Given the description of an element on the screen output the (x, y) to click on. 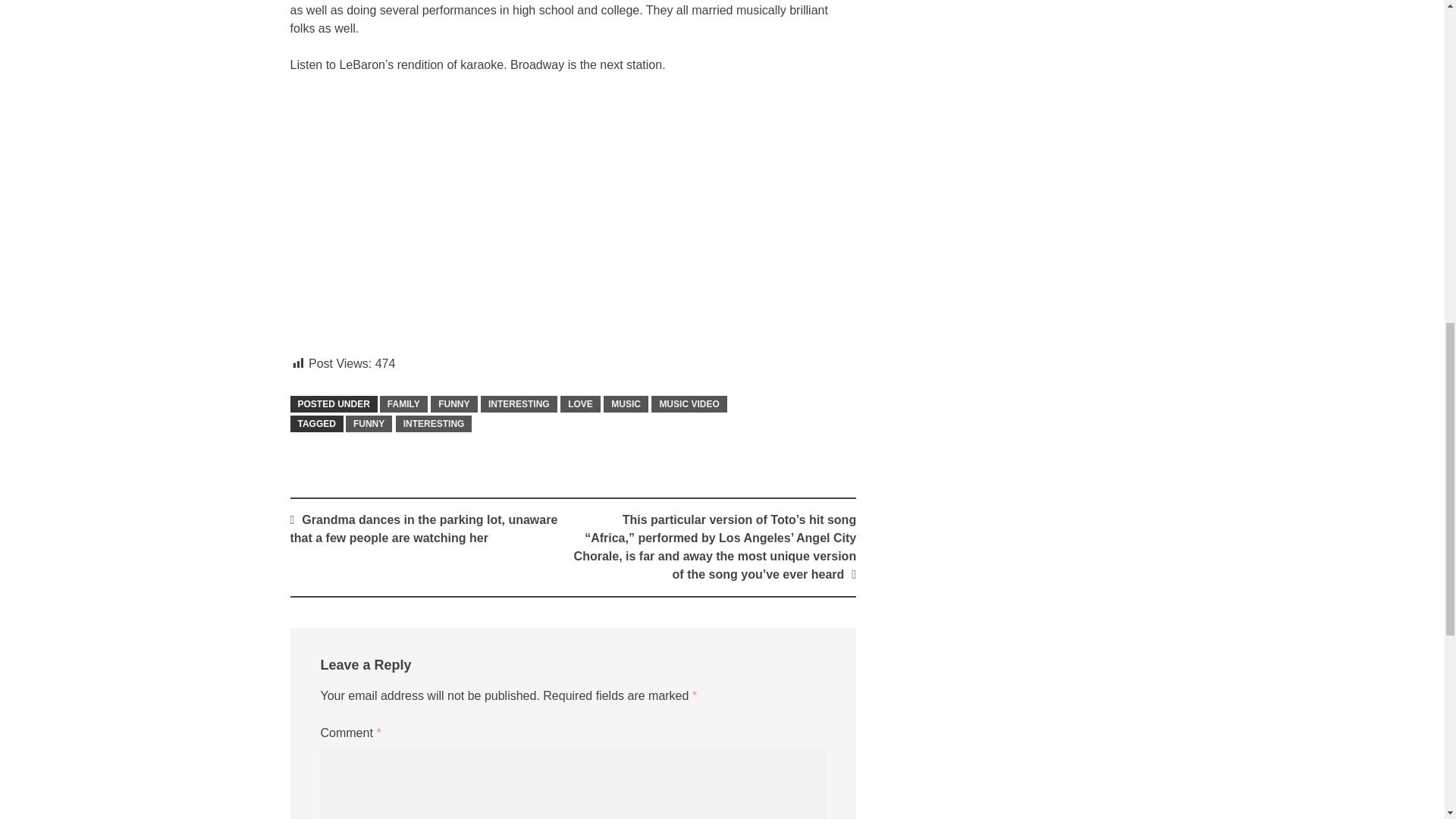
LOVE (579, 403)
YouTube video player (501, 211)
FAMILY (404, 403)
FUNNY (453, 403)
MUSIC (625, 403)
INTERESTING (518, 403)
MUSIC VIDEO (688, 403)
INTERESTING (433, 423)
FUNNY (368, 423)
